Given the description of an element on the screen output the (x, y) to click on. 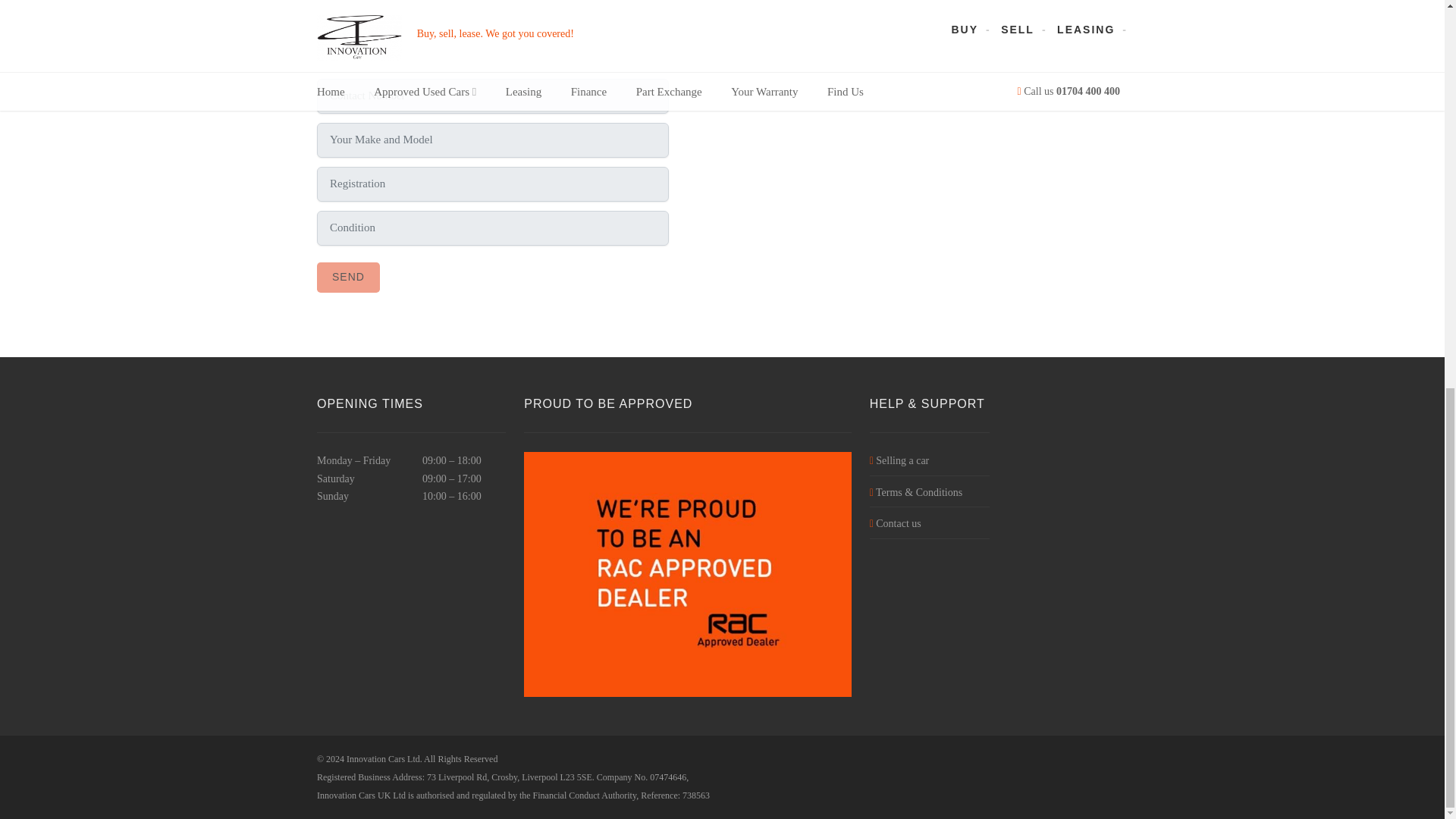
Send (348, 277)
